Given the description of an element on the screen output the (x, y) to click on. 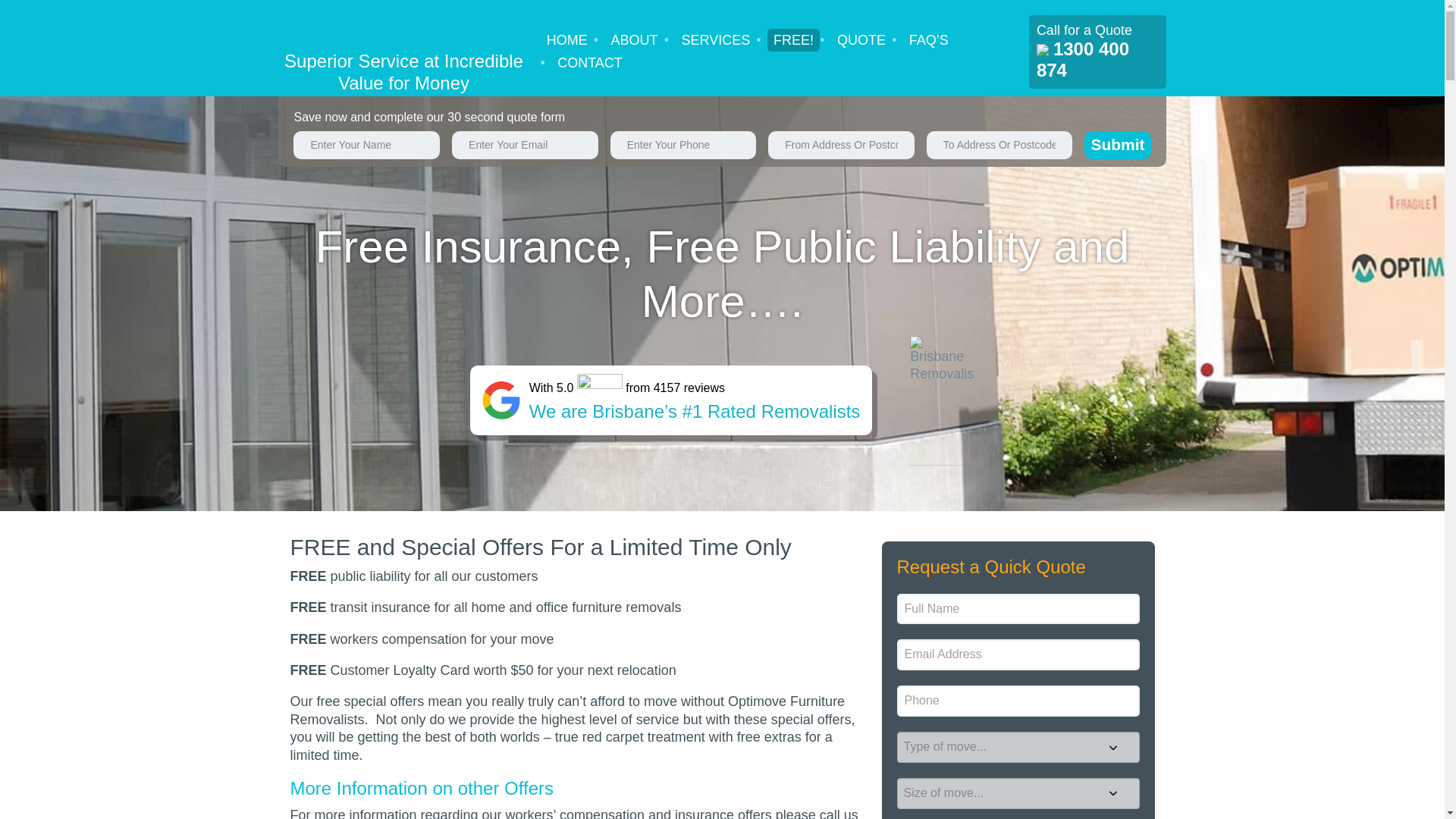
ABOUT (633, 39)
Back (652, 539)
Call (1042, 50)
SERVICES (715, 39)
Submit (1117, 144)
HOME (566, 39)
Optimove Furniture Removalists (403, 27)
